Given the description of an element on the screen output the (x, y) to click on. 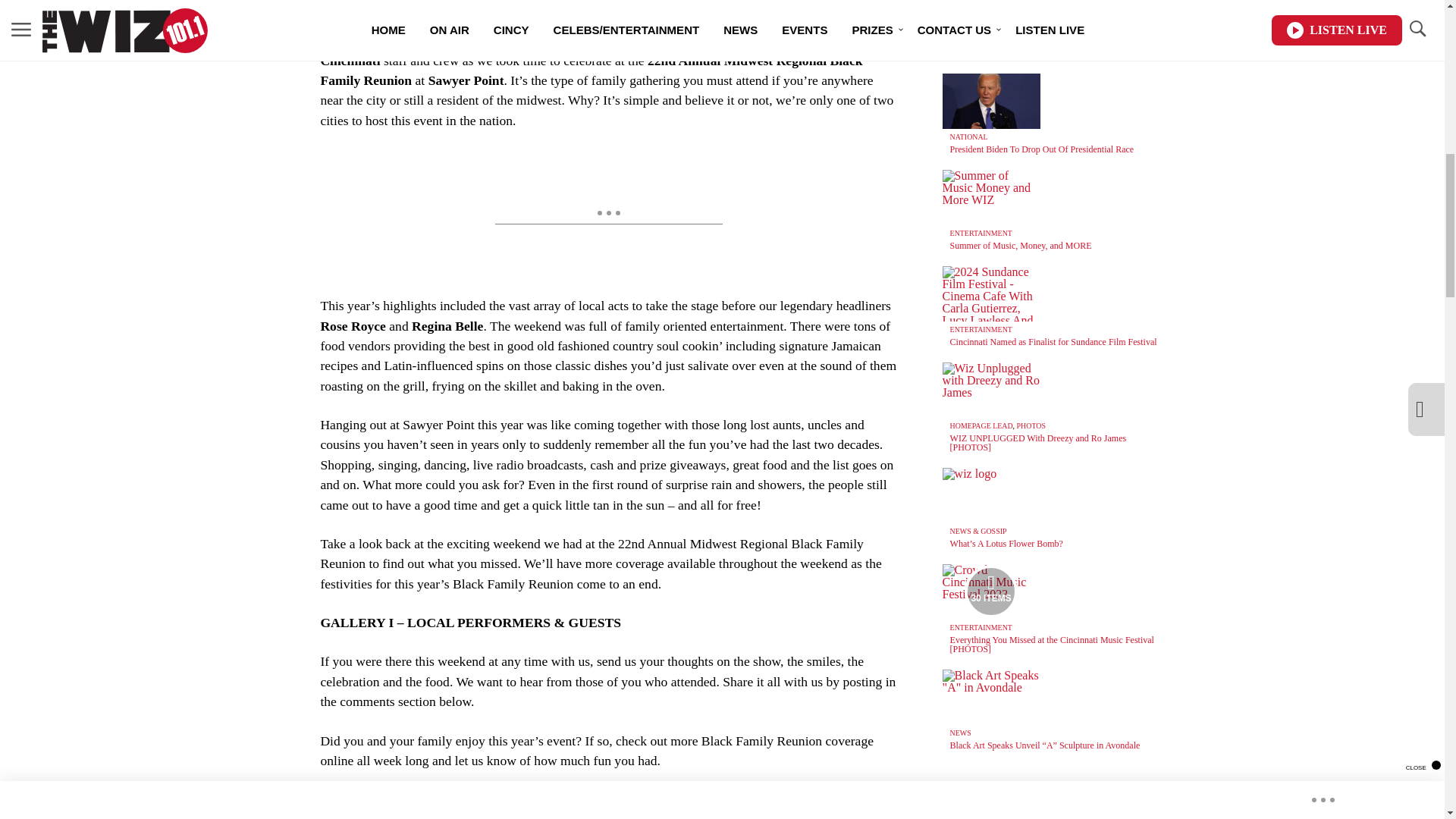
Media Playlist (990, 591)
